Given the description of an element on the screen output the (x, y) to click on. 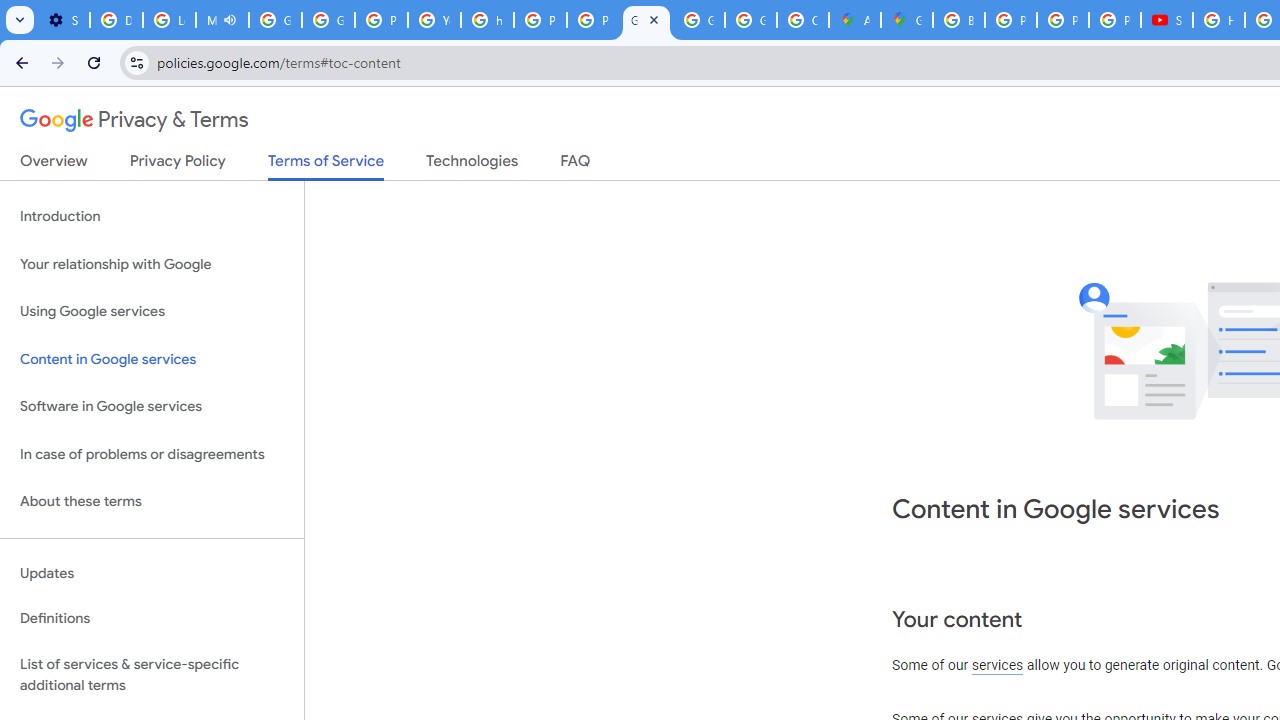
In case of problems or disagreements (152, 453)
Privacy Help Center - Policies Help (1062, 20)
Privacy Help Center - Policies Help (540, 20)
List of services & service-specific additional terms (152, 674)
Settings - Customize profile (63, 20)
Delete photos & videos - Computer - Google Photos Help (116, 20)
Google Maps (906, 20)
